Given the description of an element on the screen output the (x, y) to click on. 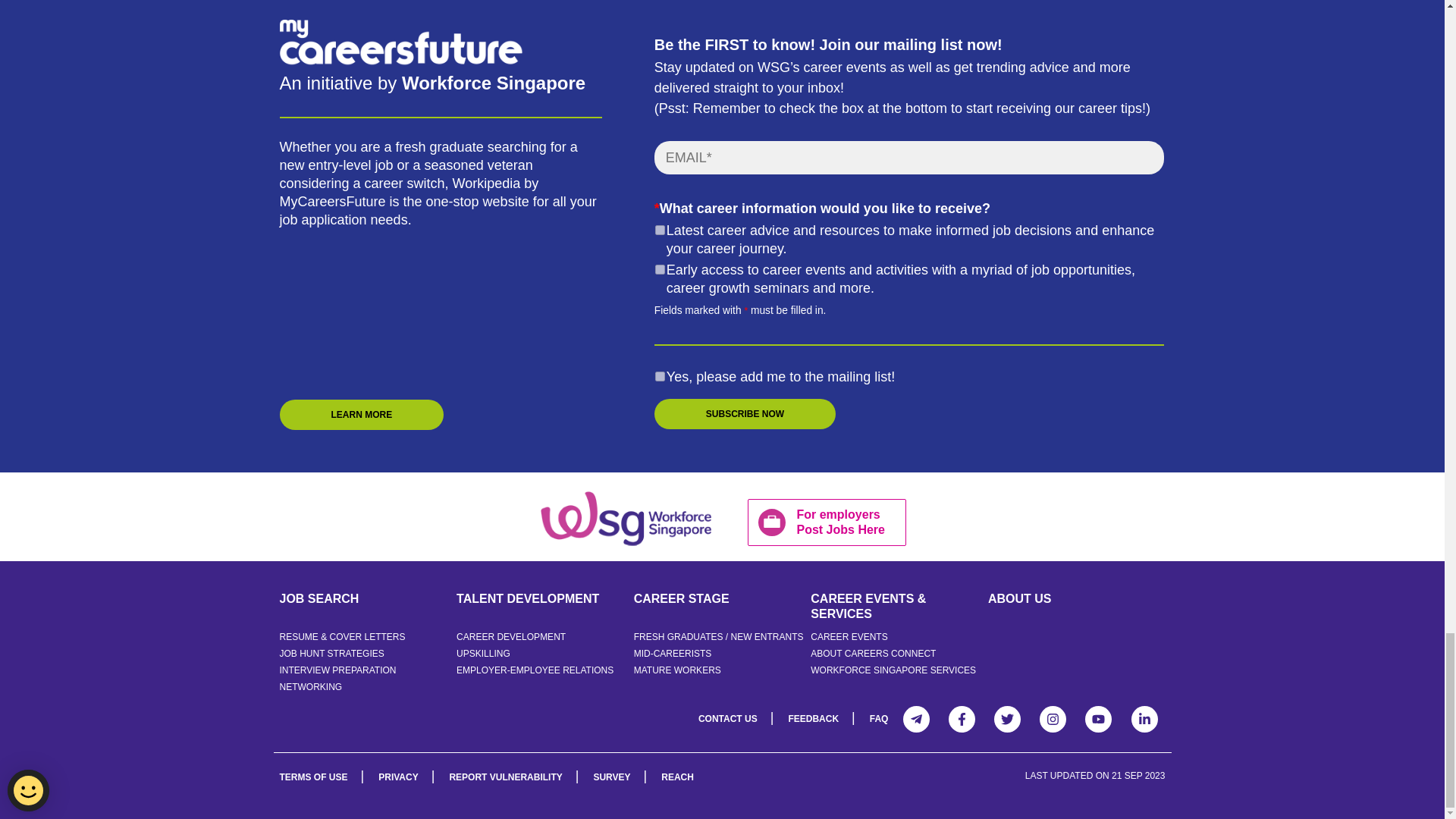
SUBSCRIBE NOW (744, 413)
2 (660, 269)
y (660, 376)
1 (660, 230)
Workipedia by MyCareersFuture (625, 517)
